Given the description of an element on the screen output the (x, y) to click on. 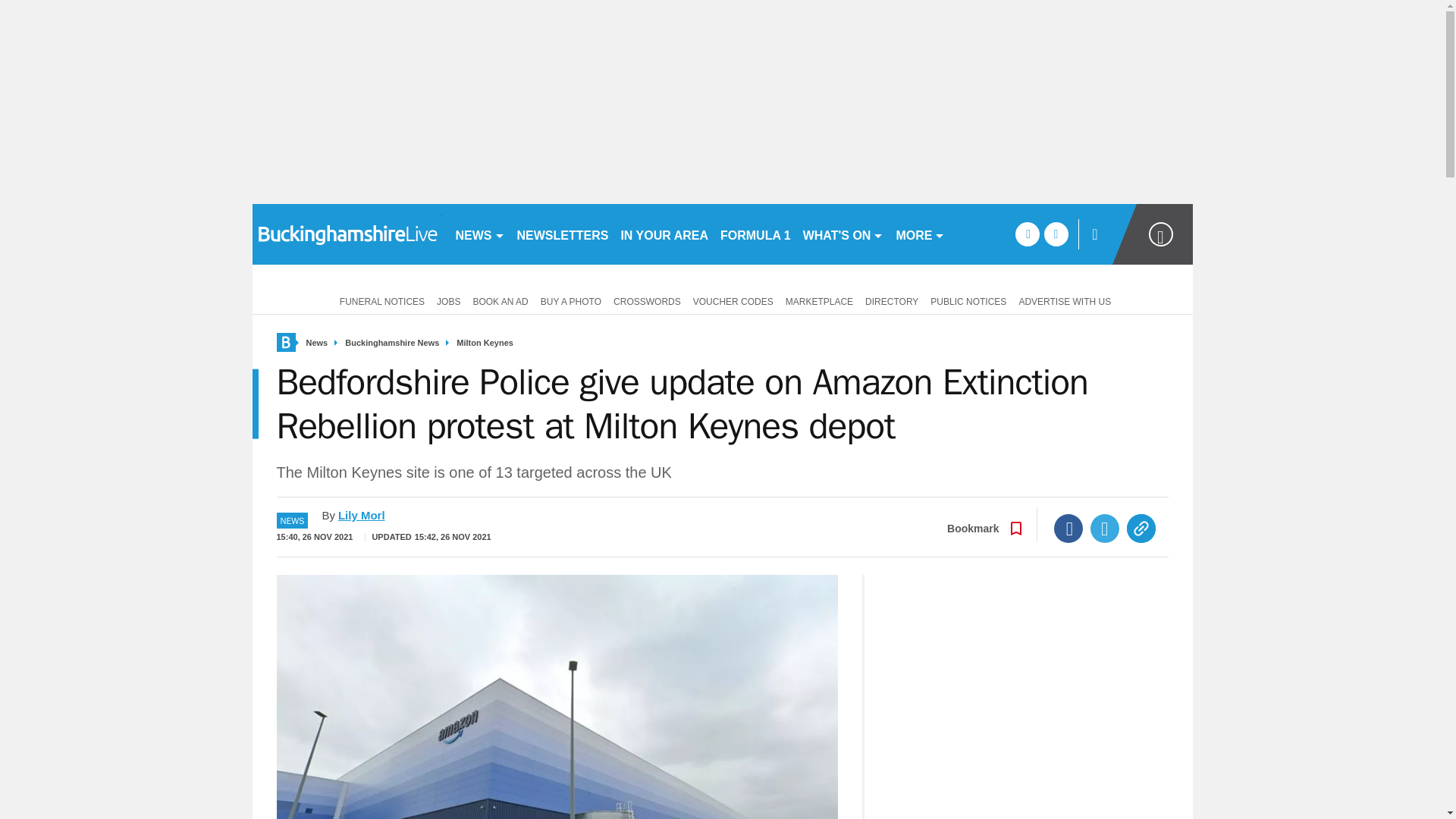
JOBS (447, 300)
IN YOUR AREA (664, 233)
twitter (1055, 233)
facebook (1026, 233)
buckinghamshirelive (346, 233)
FORMULA 1 (755, 233)
CROSSWORDS (647, 300)
FUNERAL NOTICES (378, 300)
Milton Keynes (485, 343)
NEWS (479, 233)
